Given the description of an element on the screen output the (x, y) to click on. 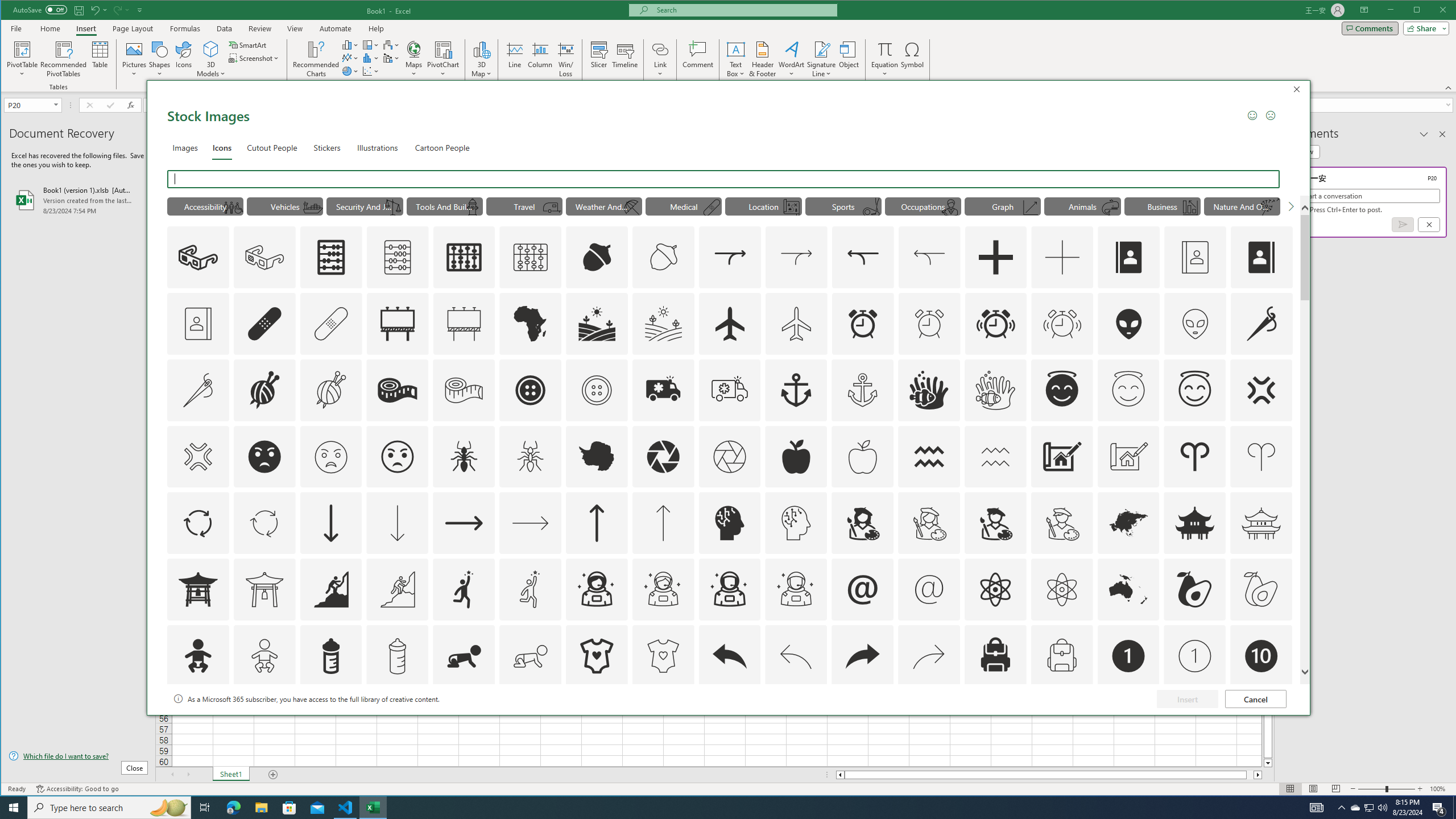
AutomationID: Icons_ArtistFemale (863, 522)
Search Icons (724, 179)
AutomationID: Icons_Atom (995, 589)
Microsoft Edge (233, 807)
